Given the description of an element on the screen output the (x, y) to click on. 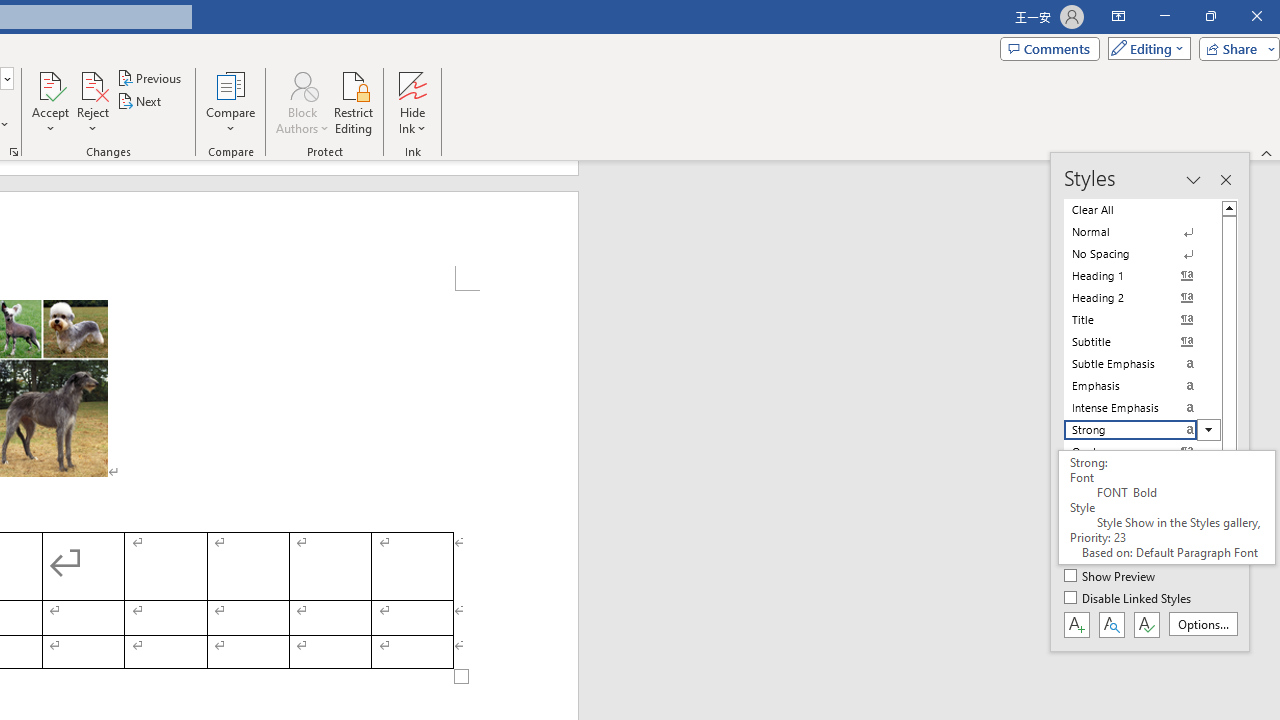
Editing (1144, 47)
No Spacing (1142, 253)
Previous (150, 78)
Intense Quote (1142, 473)
Accept (50, 102)
Compare (230, 102)
Title (1142, 319)
Intense Reference (1142, 517)
Accept and Move to Next (50, 84)
Class: MsoCommandBar (1149, 401)
Heading 2 (1142, 297)
Change Tracking Options... (13, 151)
